Given the description of an element on the screen output the (x, y) to click on. 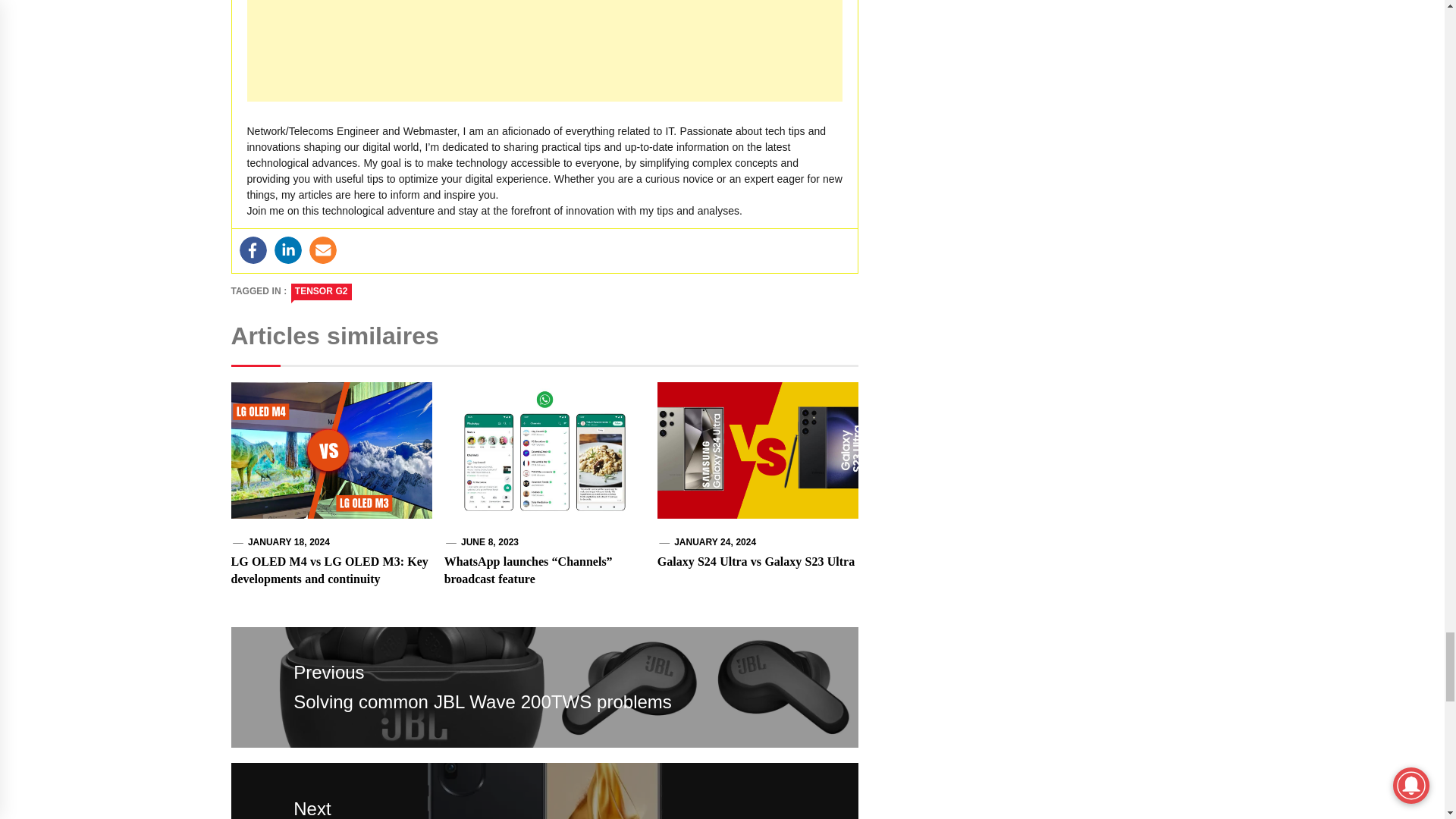
Facebook (253, 249)
Linkedin (288, 249)
User email (322, 249)
